Given the description of an element on the screen output the (x, y) to click on. 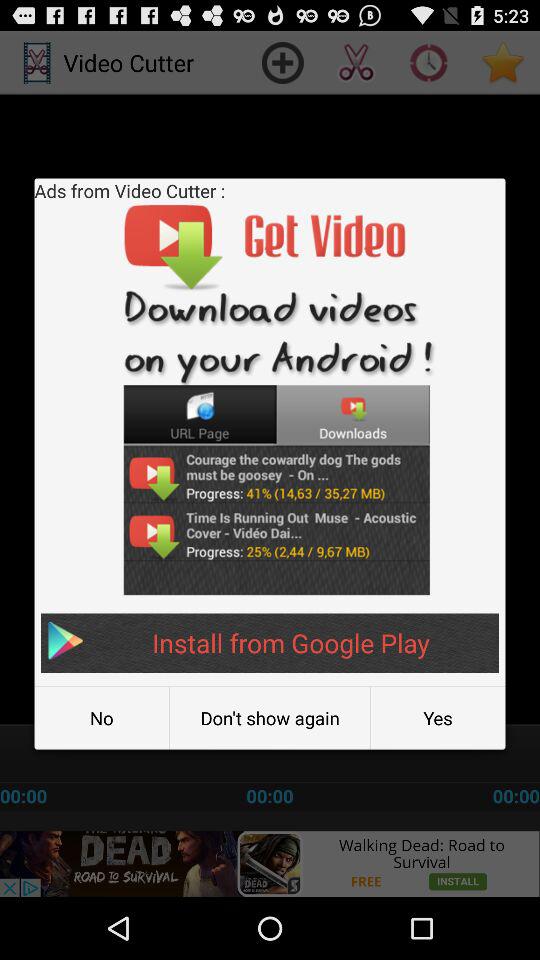
tap icon next to the don t show (437, 717)
